Given the description of an element on the screen output the (x, y) to click on. 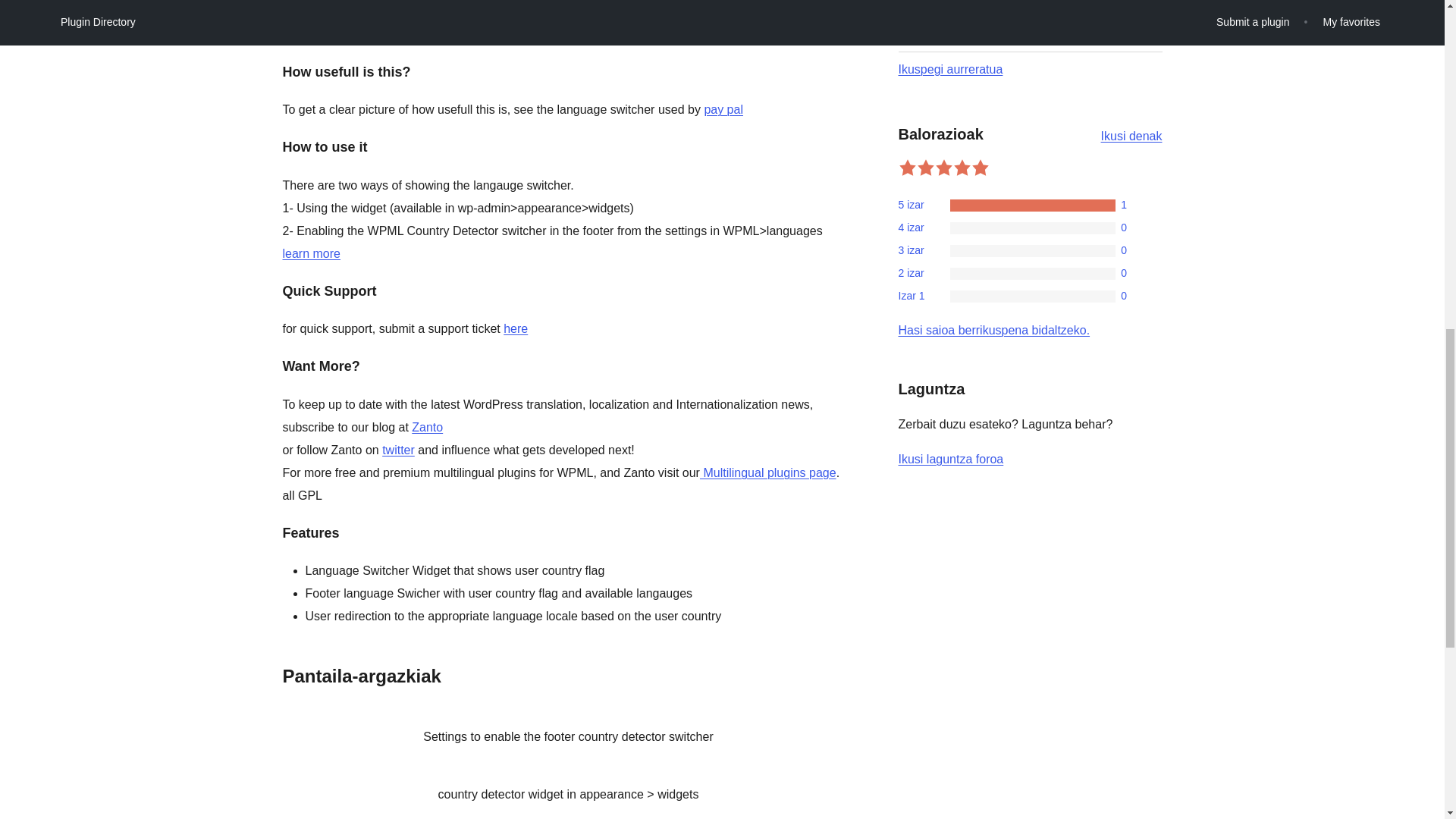
WordPress translation, Internationalization and localization (1012, 250)
twitter (427, 427)
Ikuspegi aurreratua (397, 449)
here (950, 69)
paypal language switcher (515, 328)
Multilingual plugins page (722, 109)
country detector (767, 472)
pay pal (1047, 3)
multilingual plugin developement (1012, 227)
Zanto (722, 109)
wpml (1012, 204)
Ikusi denak (397, 449)
